Given the description of an element on the screen output the (x, y) to click on. 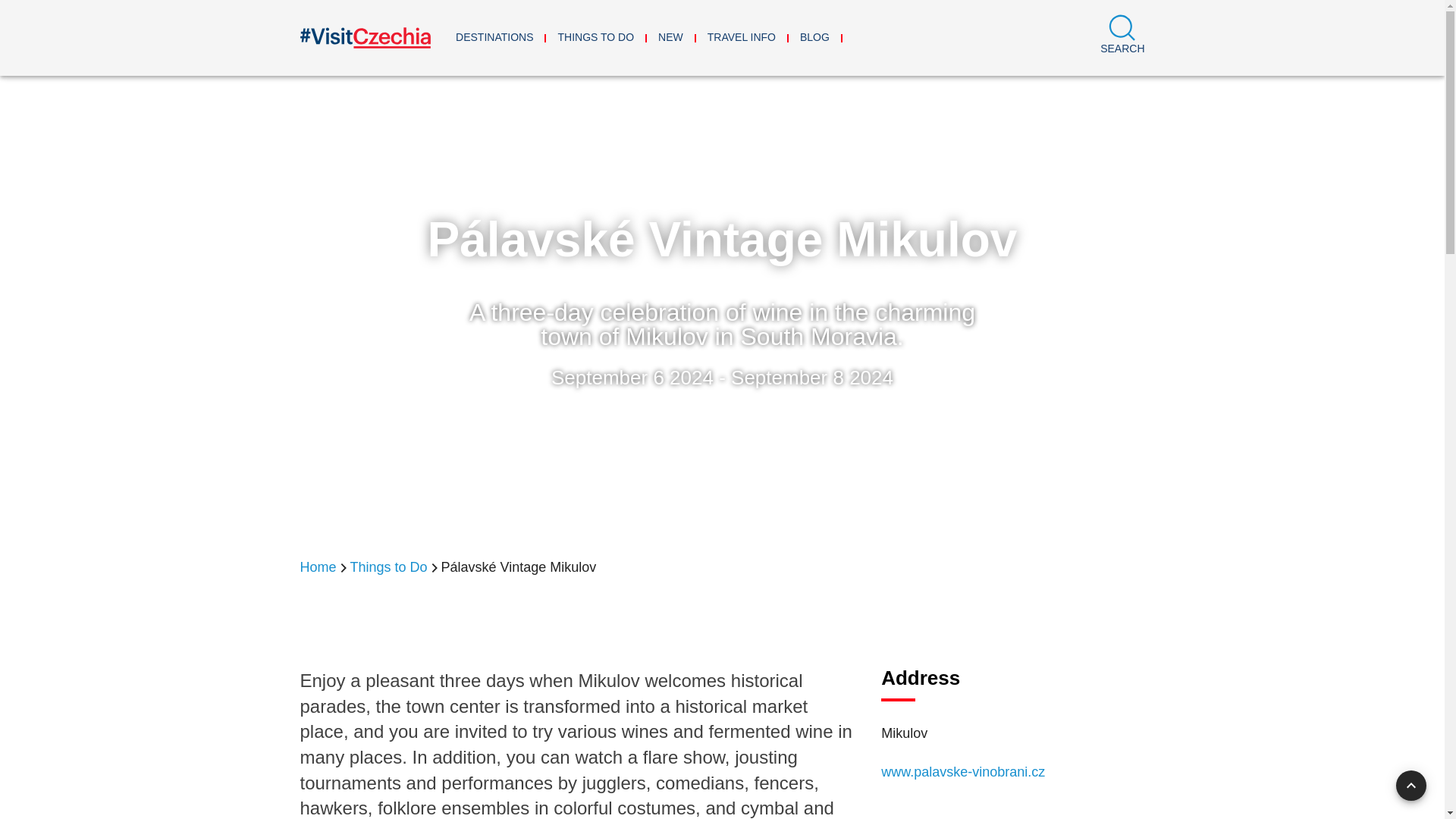
THINGS TO DO (595, 38)
TRAVEL INFO (741, 38)
DESTINATIONS (494, 38)
Things to Do (389, 566)
Search (1122, 37)
www.palavske-vinobrani.cz (962, 771)
Home (317, 566)
